Given the description of an element on the screen output the (x, y) to click on. 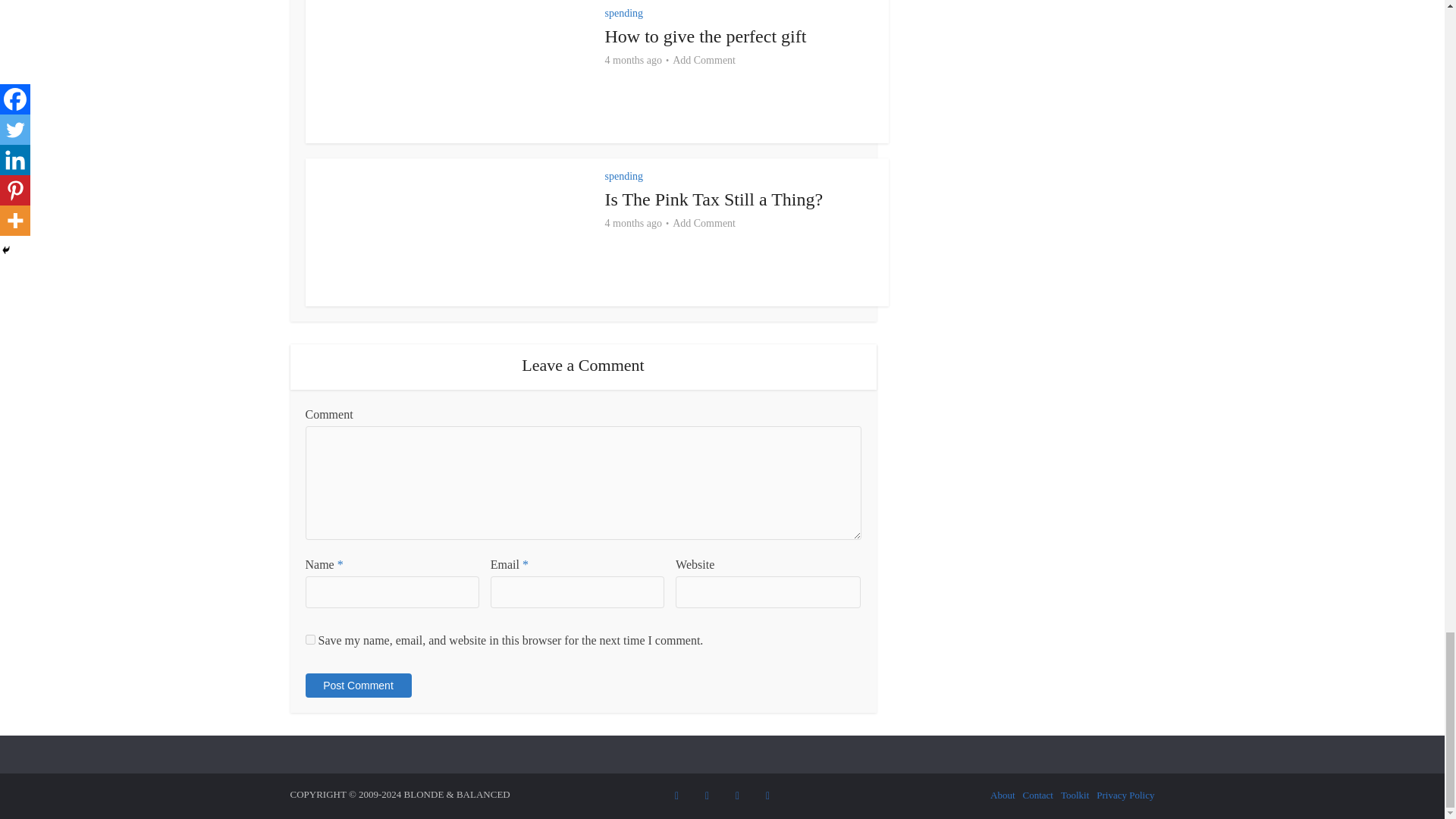
Post Comment (357, 685)
yes (309, 639)
